Given the description of an element on the screen output the (x, y) to click on. 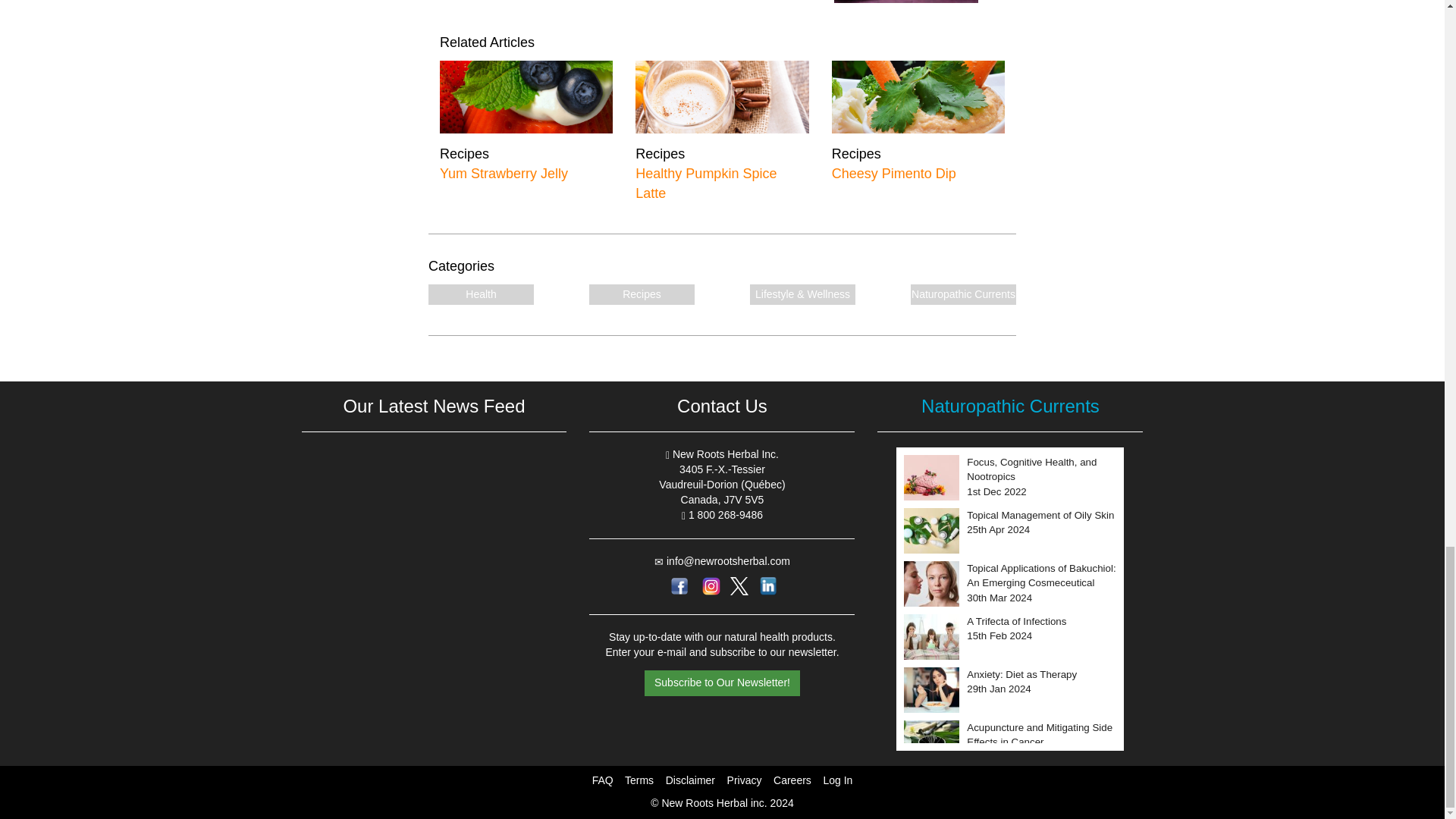
Acupuncture and Mitigating Side Effects in Cancer (1041, 477)
